Given the description of an element on the screen output the (x, y) to click on. 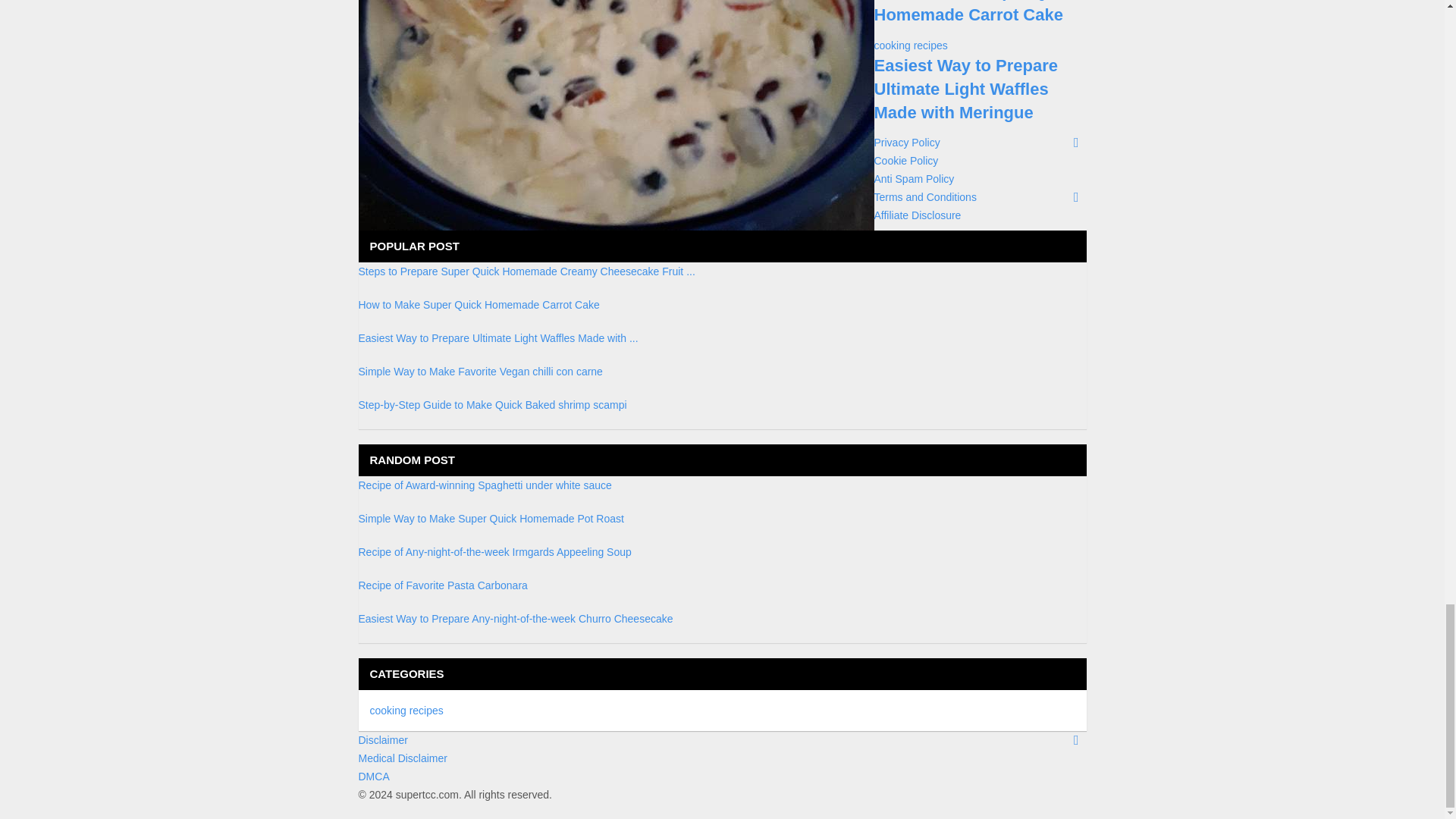
How to Make Super Quick Homemade Carrot Cake (975, 12)
Simple Way to Make Favorite Vegan chilli con carne (480, 371)
Simple Way to Make Super Quick Homemade Pot Roast (490, 518)
Easiest Way to Prepare Ultimate Light Waffles Made with ... (497, 337)
Step-by-Step Guide to Make Quick Baked shrimp scampi (492, 404)
cooking recipes (910, 45)
How to Make Super Quick Homemade Carrot Cake (975, 12)
Recipe of Award-winning Spaghetti under white sauce (484, 485)
How to Make Super Quick Homemade Carrot Cake (478, 304)
